Given the description of an element on the screen output the (x, y) to click on. 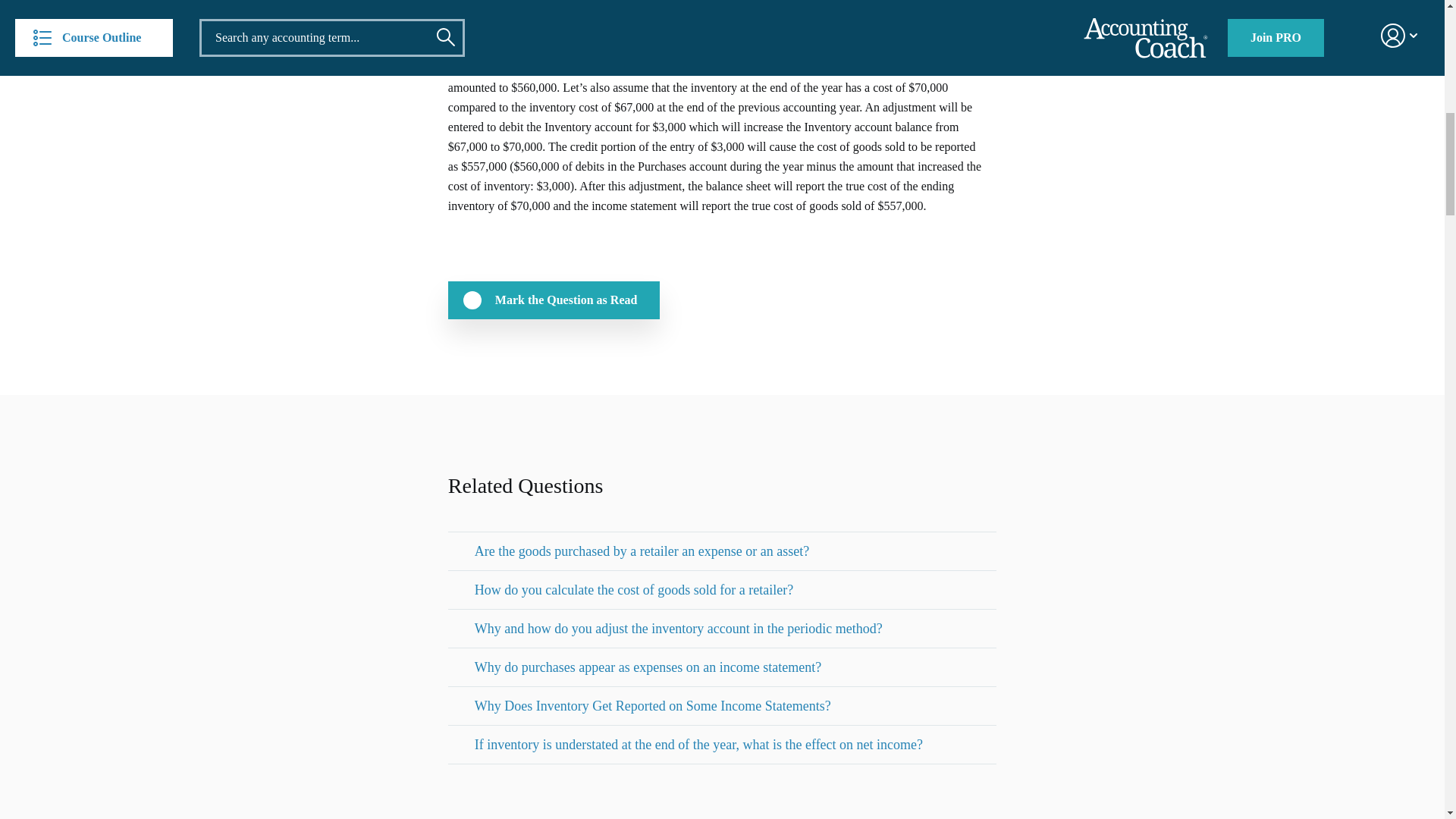
Why Does Inventory Get Reported on Some Income Statements? (652, 705)
How do you calculate the cost of goods sold for a retailer? (633, 589)
Why do purchases appear as expenses on an income statement? (647, 667)
Mark the Question as Read (554, 300)
accounting period (720, 57)
